Given the description of an element on the screen output the (x, y) to click on. 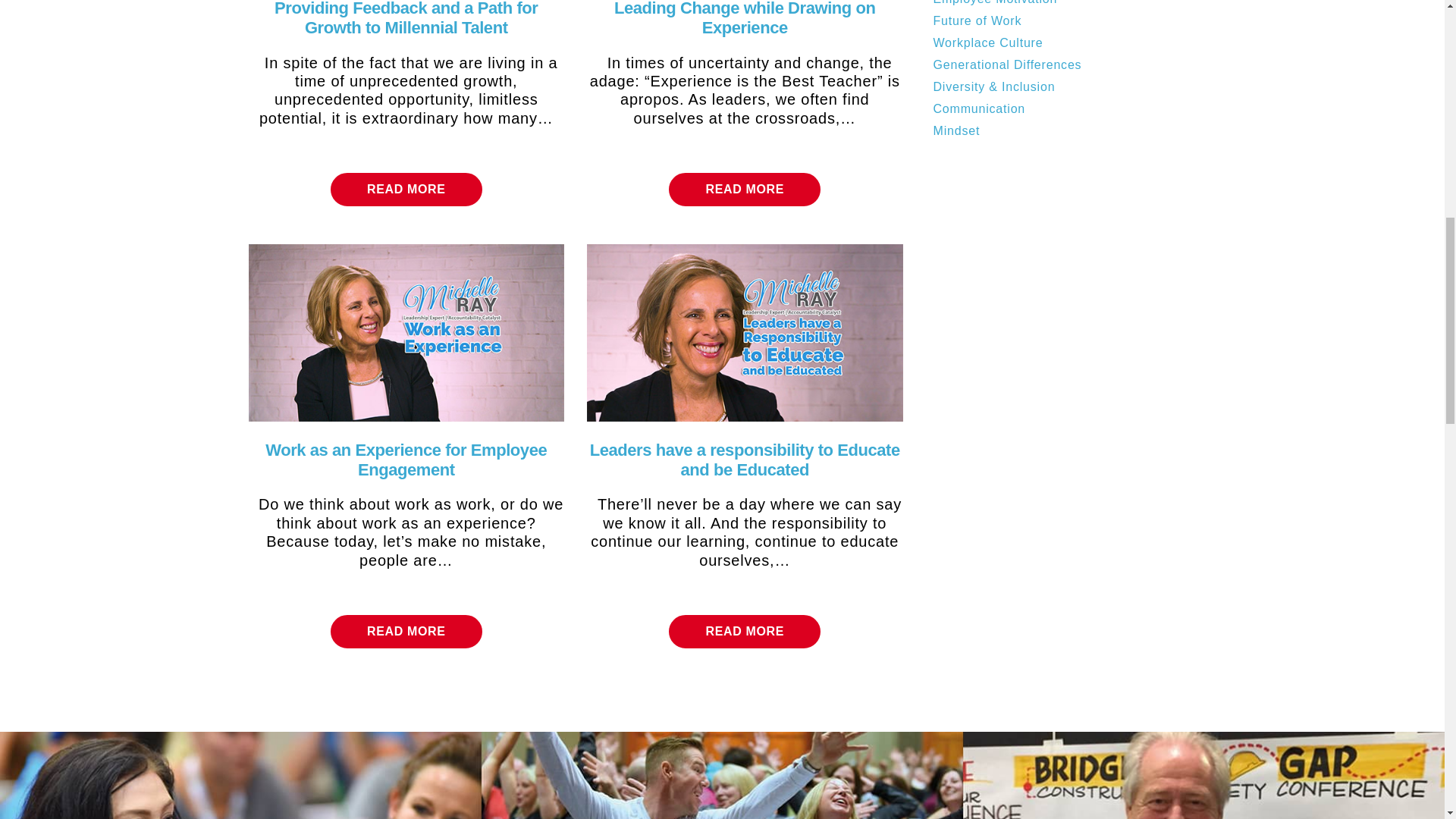
Leaders have a responsibility to Educate and be Educated (744, 459)
Work as an Experience for Employee Engagement (405, 459)
Leading Change while Drawing on Experience (745, 18)
Leaders have a responsibility to Educate and be Educated (744, 330)
Work as an Experience for Employee Engagement (406, 330)
